Given the description of an element on the screen output the (x, y) to click on. 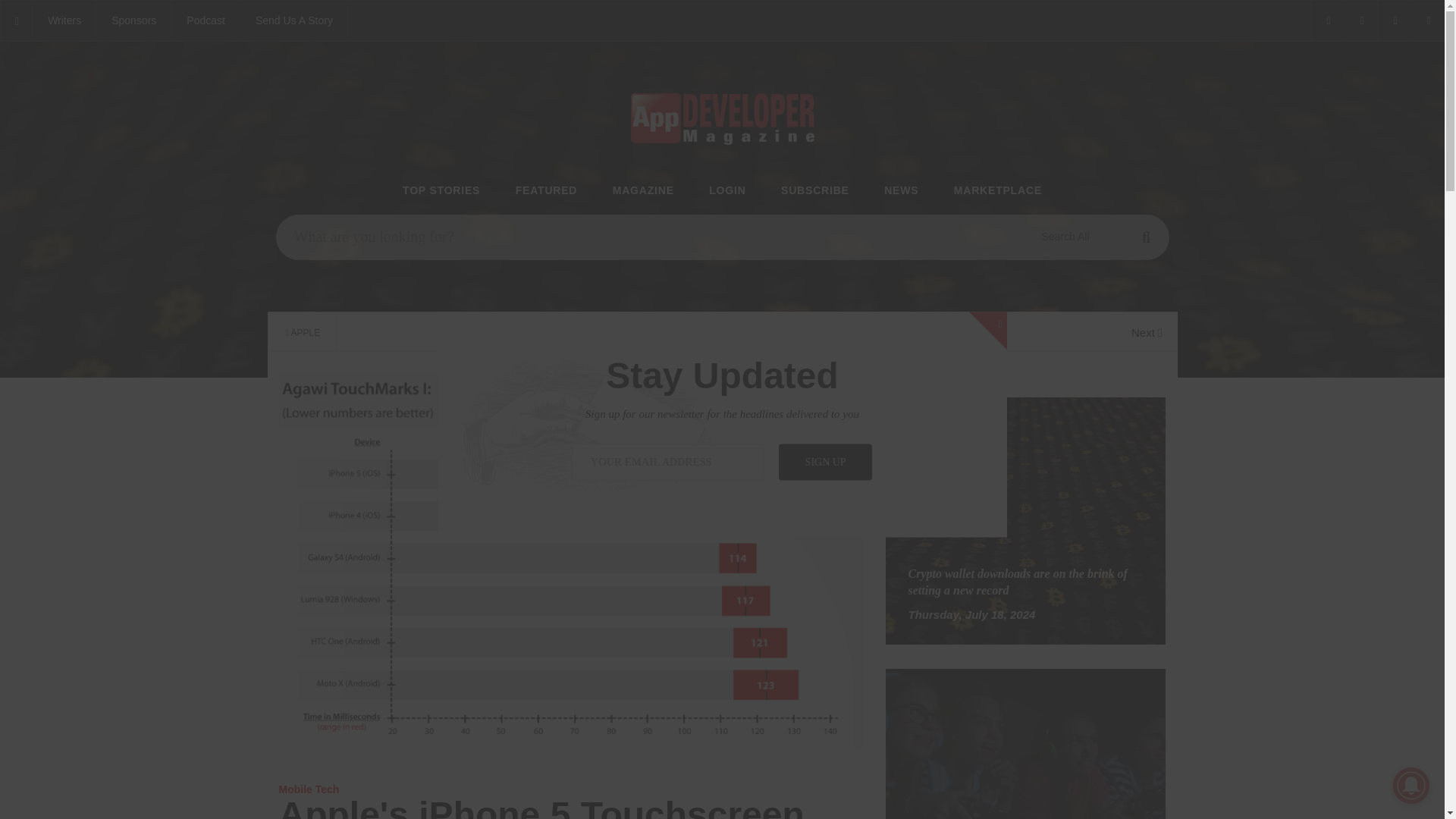
App Developer Magazine Sponsors (133, 20)
Submit App News or Press Release (293, 20)
TOP STORIES (441, 190)
sign up (825, 461)
App Developer Magazine (205, 20)
FEATURED (546, 190)
Podcast (205, 20)
Our Writers (64, 20)
Writers (64, 20)
LOGIN (727, 190)
NEWS (900, 190)
Send Us A Story (293, 20)
MAGAZINE (643, 190)
Sponsors (133, 20)
